Given the description of an element on the screen output the (x, y) to click on. 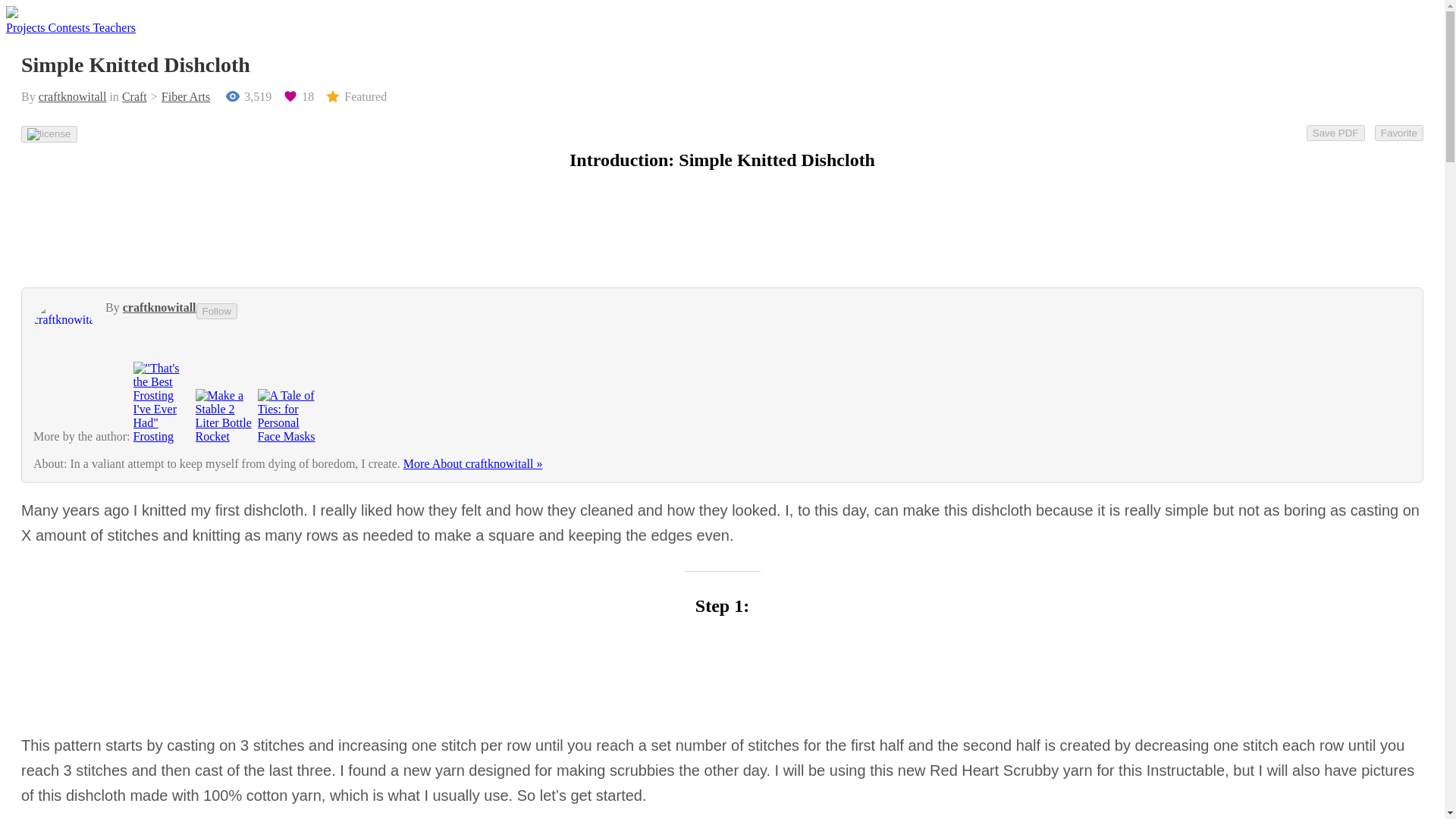
Follow (217, 311)
Contests (70, 27)
Projects (26, 27)
Favorite (1398, 132)
Craft (134, 96)
Teachers (114, 27)
craftknowitall (72, 96)
Save PDF (1335, 132)
Fiber Arts (178, 96)
craftknowitall (159, 307)
